Given the description of an element on the screen output the (x, y) to click on. 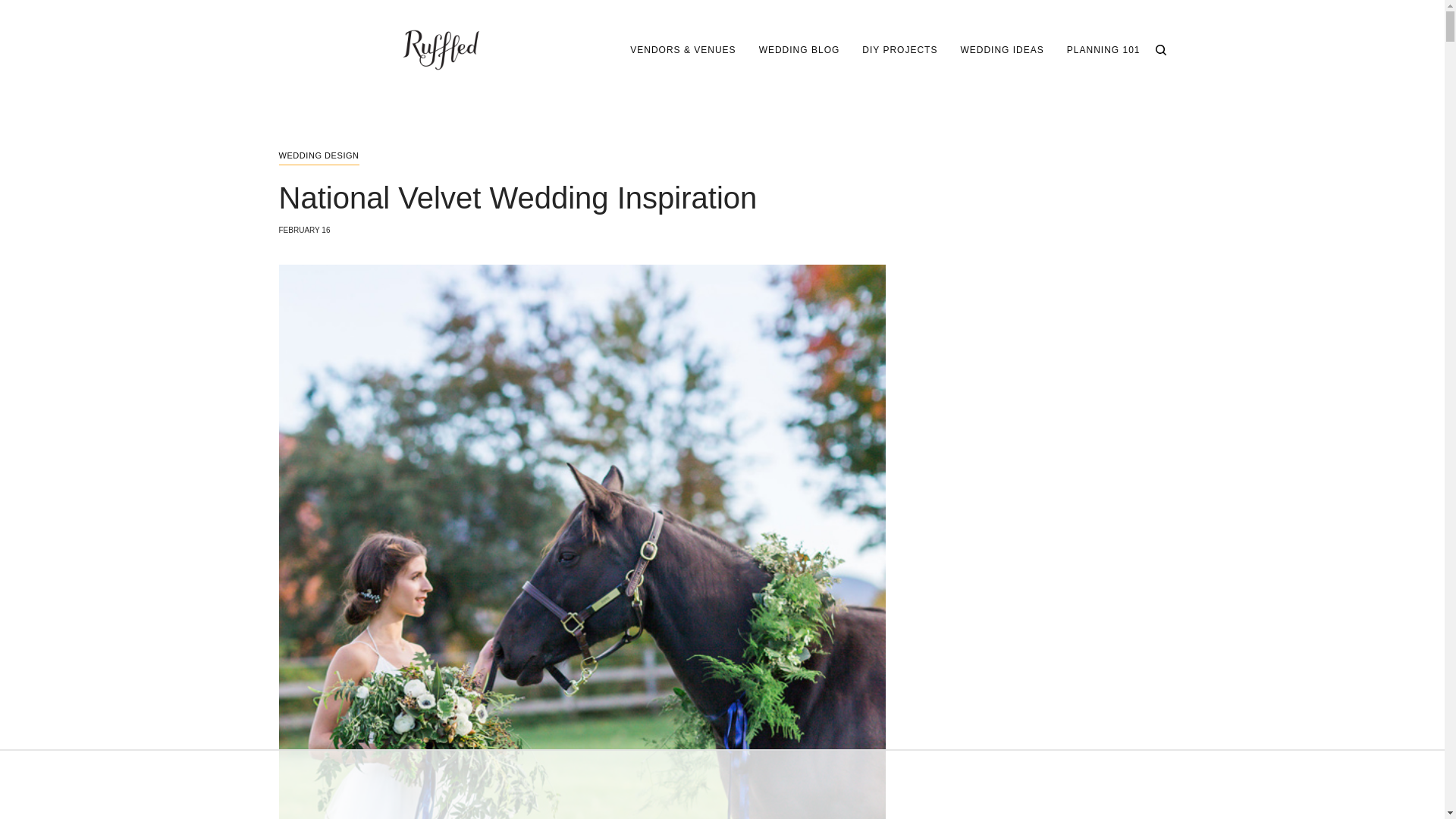
Ruffled (441, 49)
WEDDING DESIGN (319, 158)
